Given the description of an element on the screen output the (x, y) to click on. 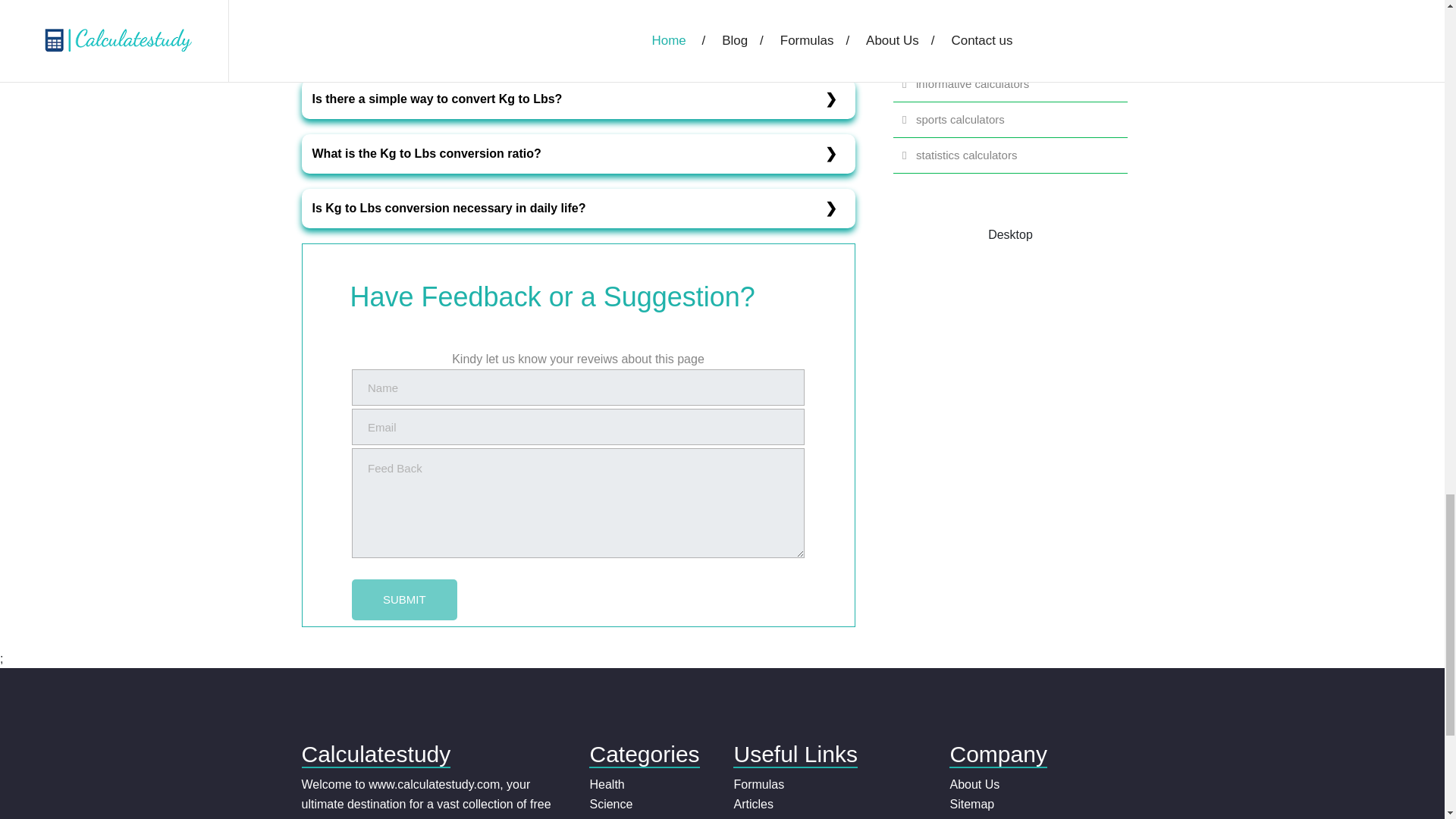
Math (602, 818)
      informative calculators (1010, 84)
      science calculators (1010, 48)
      converter calculators (1010, 12)
Health (606, 784)
      statistics calculators (1010, 155)
SUBMIT (404, 599)
      sports calculators (1010, 119)
Science (610, 803)
